Given the description of an element on the screen output the (x, y) to click on. 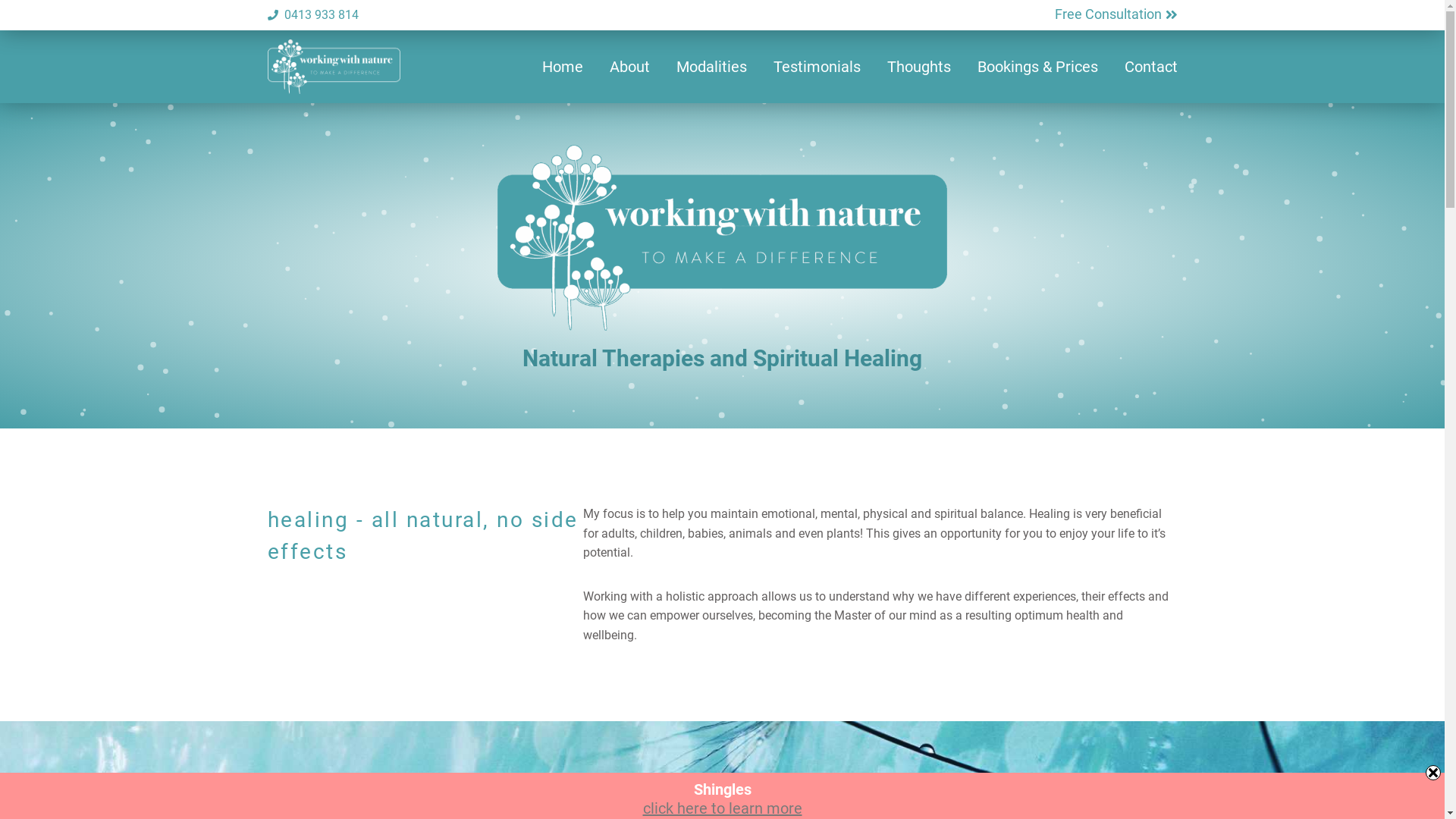
Modalities Element type: text (711, 66)
0413 933 814 Element type: text (493, 15)
Contact Element type: text (1149, 66)
Home Element type: text (561, 66)
Bookings & Prices Element type: text (1036, 66)
About Element type: text (629, 66)
Thoughts Element type: text (918, 66)
click here to learn more Element type: text (722, 808)
Free Consultation Element type: text (1115, 14)
Testimonials Element type: text (816, 66)
